Given the description of an element on the screen output the (x, y) to click on. 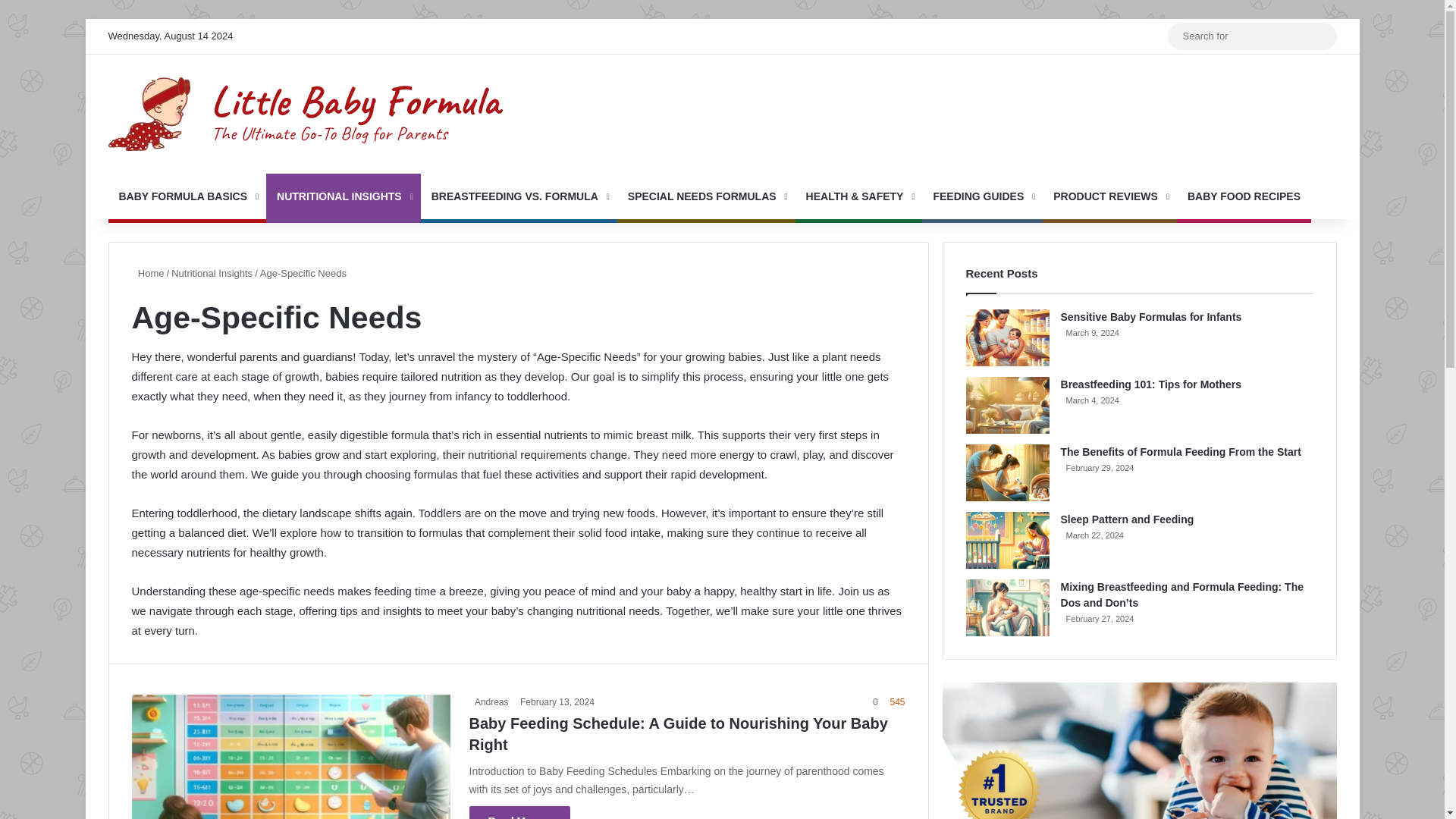
FEEDING GUIDES (981, 195)
Search for (1251, 36)
NUTRITIONAL INSIGHTS (343, 195)
Little Baby Formula (304, 113)
SPECIAL NEEDS FORMULAS (705, 195)
BREASTFEEDING VS. FORMULA (518, 195)
Search for (1321, 35)
BABY FORMULA BASICS (186, 195)
Andreas (488, 701)
